Given the description of an element on the screen output the (x, y) to click on. 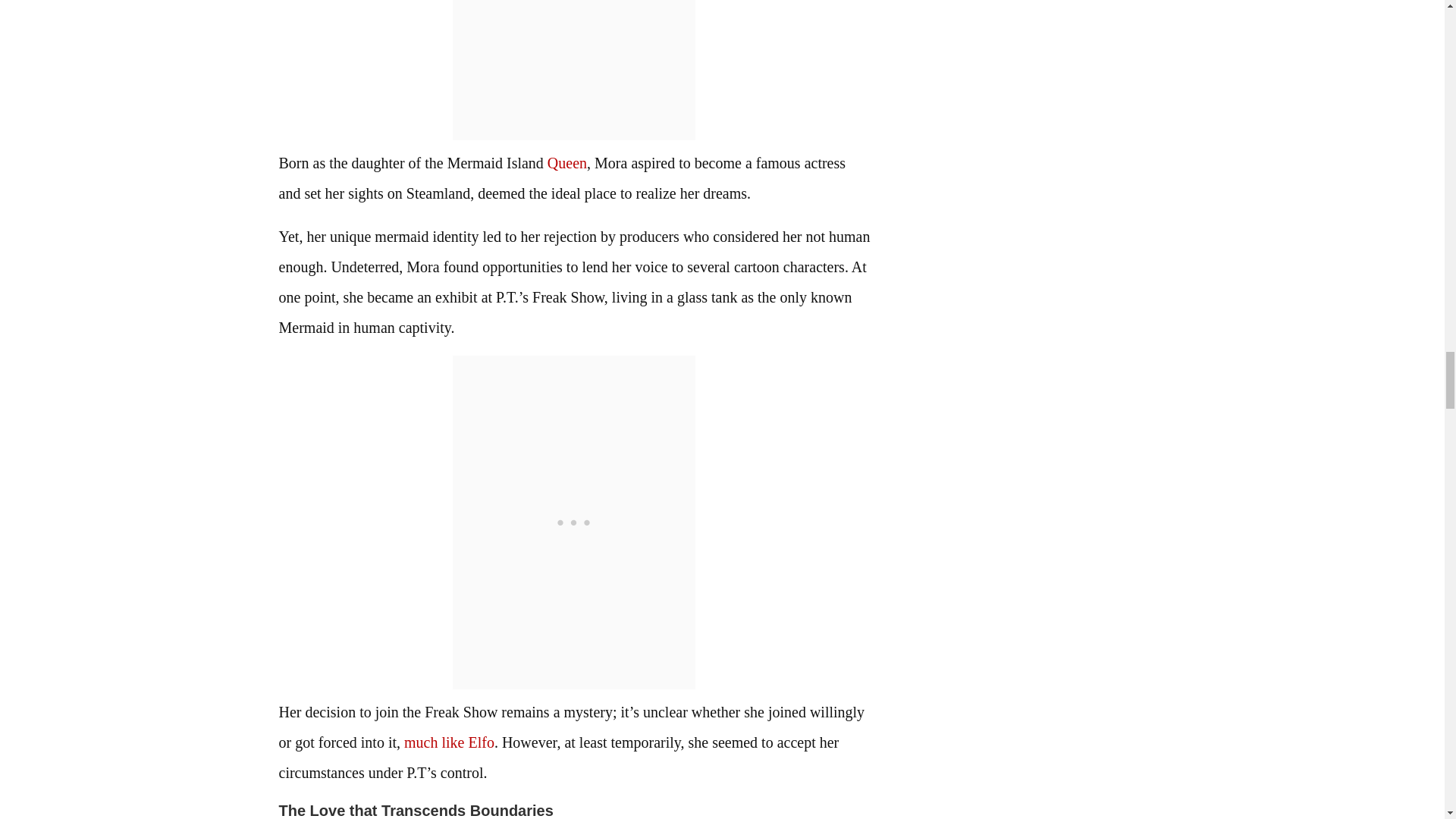
much like Elfo (449, 742)
Queen (566, 162)
